Given the description of an element on the screen output the (x, y) to click on. 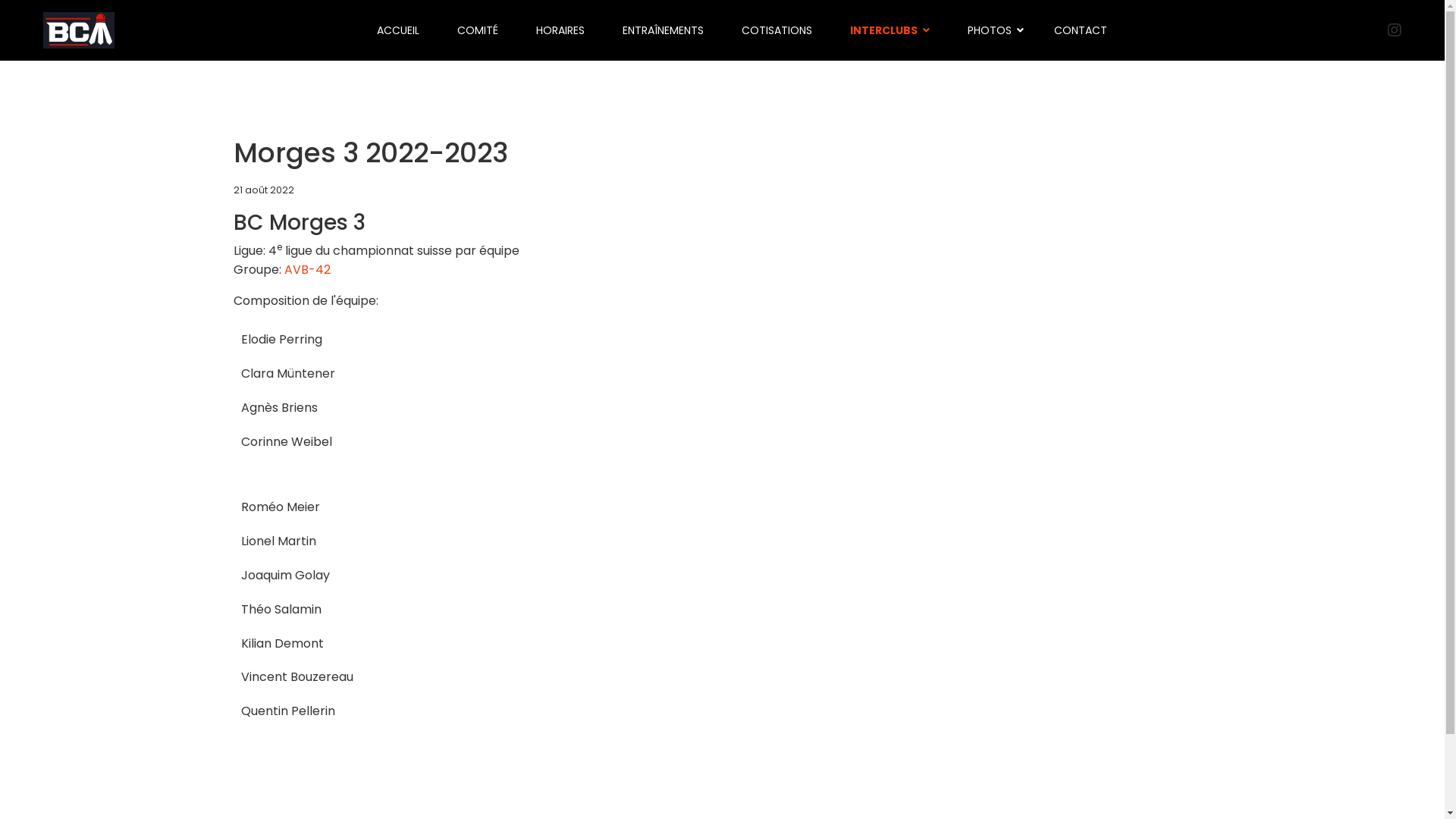
COTISATIONS Element type: text (776, 30)
HORAIRES Element type: text (560, 30)
INTERCLUBS Element type: text (889, 30)
AVB-42 Element type: text (306, 269)
CONTACT Element type: text (1074, 30)
ACCUEIL Element type: text (397, 30)
